Given the description of an element on the screen output the (x, y) to click on. 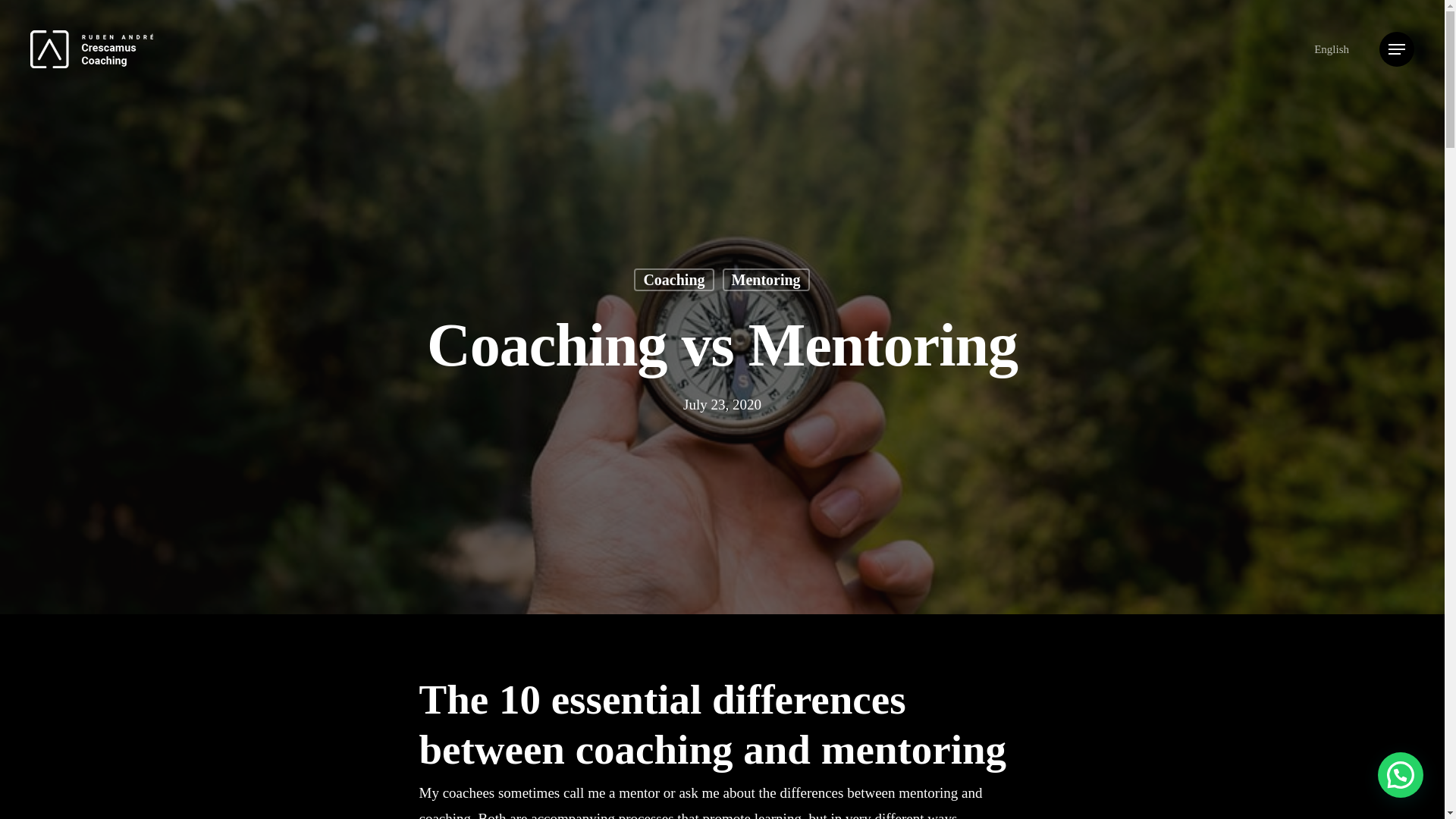
Coaching (673, 302)
Mentoring (765, 300)
English (1331, 49)
